Given the description of an element on the screen output the (x, y) to click on. 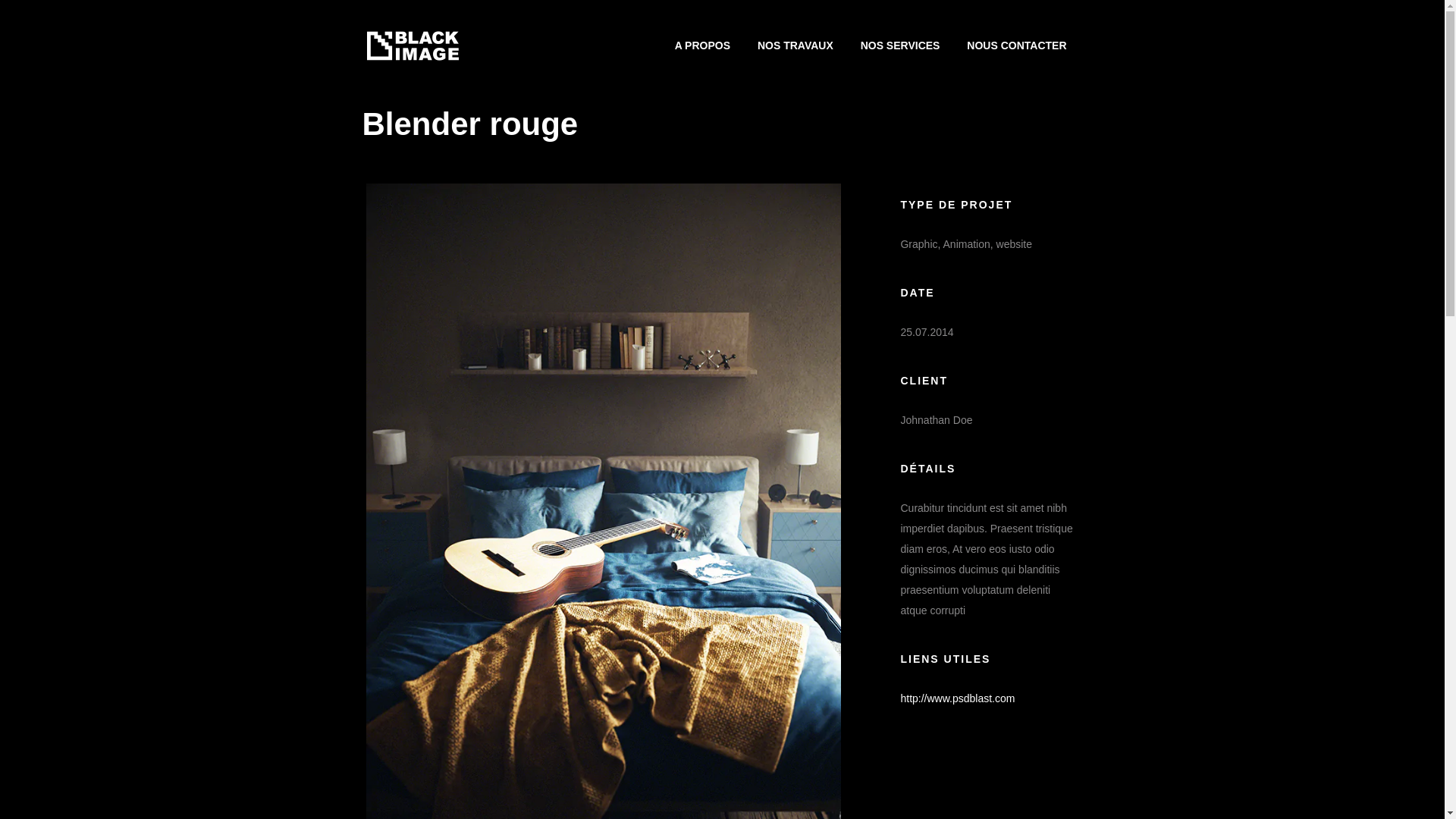
http://www.psdblast.com Element type: text (957, 698)
NOS SERVICES Element type: text (900, 45)
A PROPOS Element type: text (702, 45)
NOS TRAVAUX Element type: text (795, 45)
NOUS CONTACTER Element type: text (1016, 45)
